Given the description of an element on the screen output the (x, y) to click on. 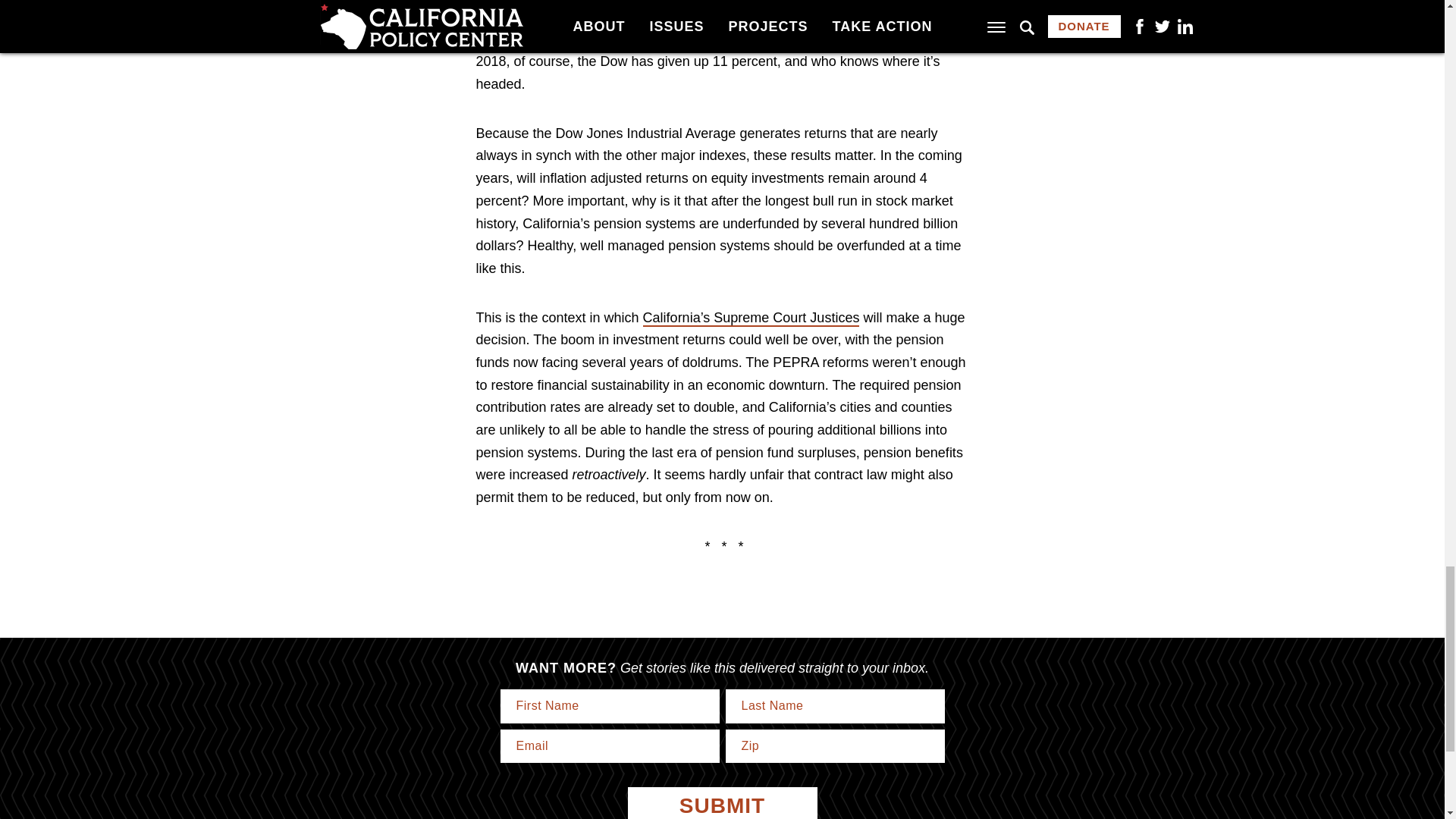
Submit (721, 803)
